Given the description of an element on the screen output the (x, y) to click on. 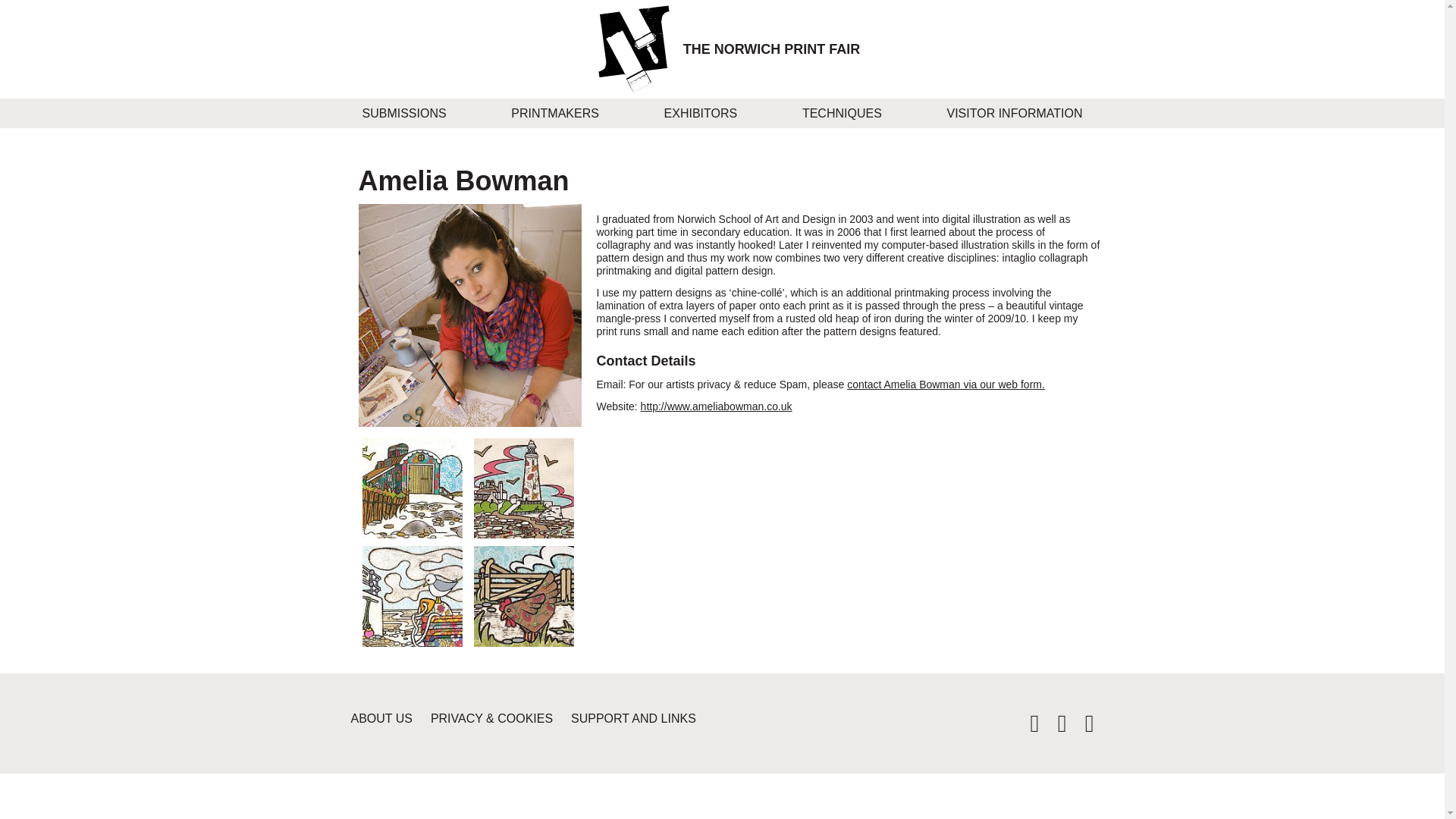
VISITOR INFORMATION (1015, 112)
PRINTMAKERS (554, 112)
twitter (1028, 727)
instagram (1082, 727)
facebook (1056, 727)
EXHIBITORS (700, 112)
ABOUT US (389, 718)
THE NORWICH PRINT FAIR (771, 49)
SUPPORT AND LINKS (640, 718)
contact Amelia Bowman via our web form. (946, 384)
